Given the description of an element on the screen output the (x, y) to click on. 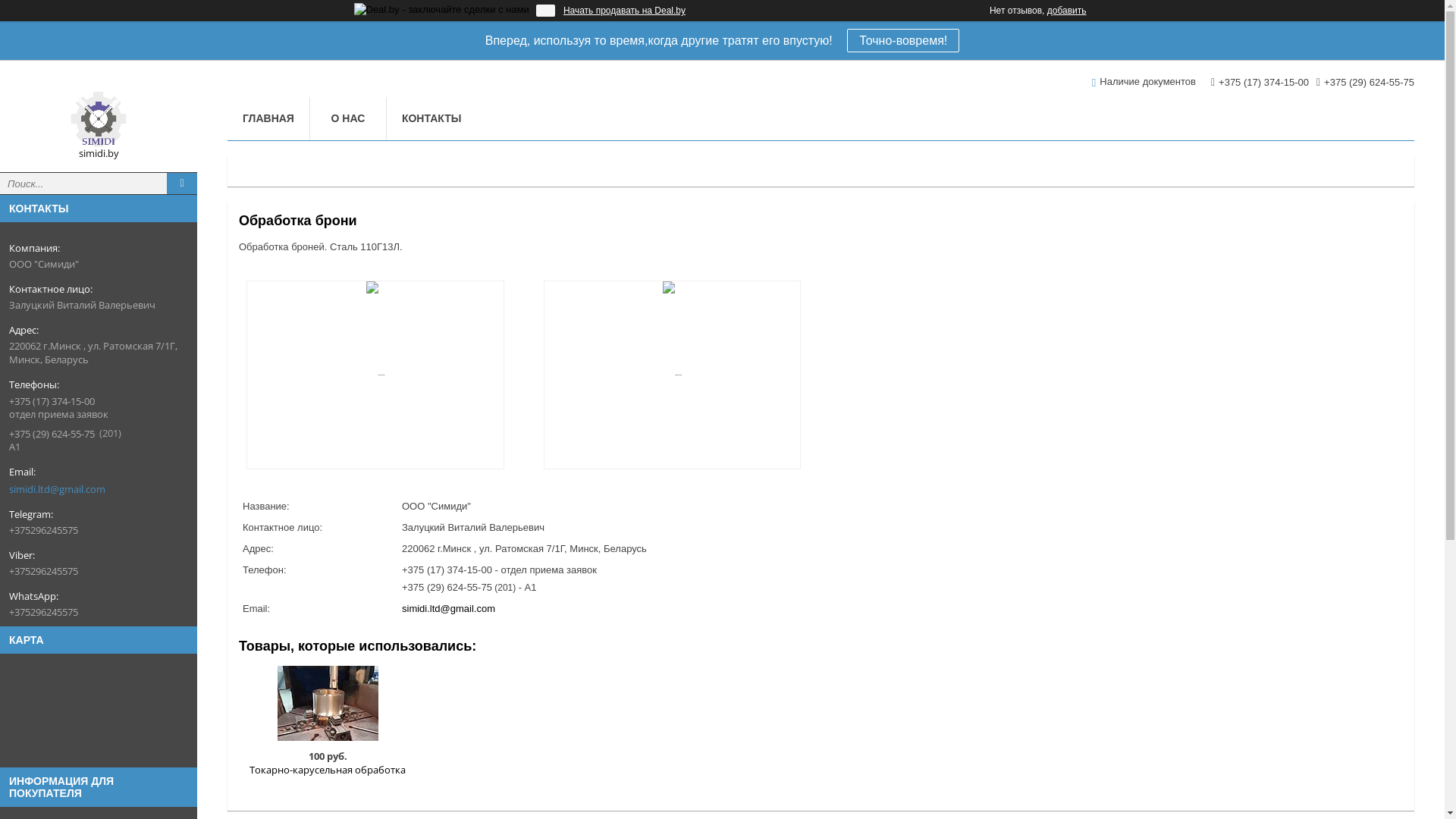
simidi.ltd@gmail.com Element type: text (57, 488)
simidi.ltd@gmail.com Element type: text (448, 608)
